Given the description of an element on the screen output the (x, y) to click on. 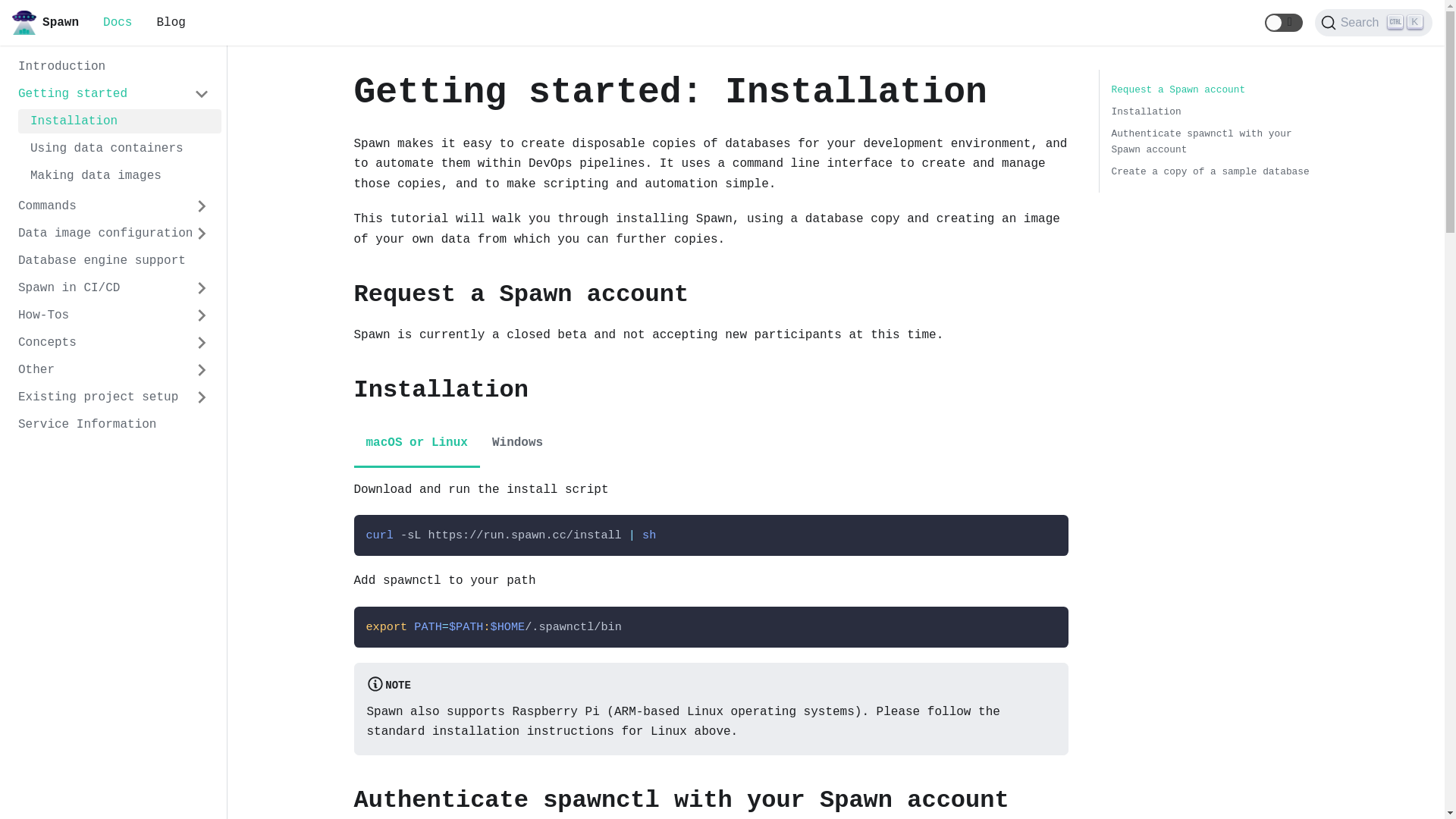
Request a Spawn account Element type: text (1178, 89)
Spawn Element type: text (45, 22)
Getting started Element type: text (113, 93)
Existing project setup Element type: text (113, 397)
Search
K Element type: text (1373, 22)
Blog Element type: text (170, 22)
Commands Element type: text (113, 206)
Installation Element type: text (1146, 111)
Introduction Element type: text (113, 66)
Spawn in CI/CD Element type: text (113, 288)
How-Tos Element type: text (113, 315)
Authenticate spawnctl with your Spawn account Element type: text (1201, 141)
Concepts Element type: text (113, 342)
Create a copy of a sample database Element type: text (1210, 171)
Other Element type: text (113, 369)
Database engine support Element type: text (113, 260)
Service Information Element type: text (113, 424)
Making data images Element type: text (119, 175)
Data image configuration Element type: text (113, 233)
Installation Element type: text (119, 121)
Docs Element type: text (117, 22)
Using data containers Element type: text (119, 148)
